Given the description of an element on the screen output the (x, y) to click on. 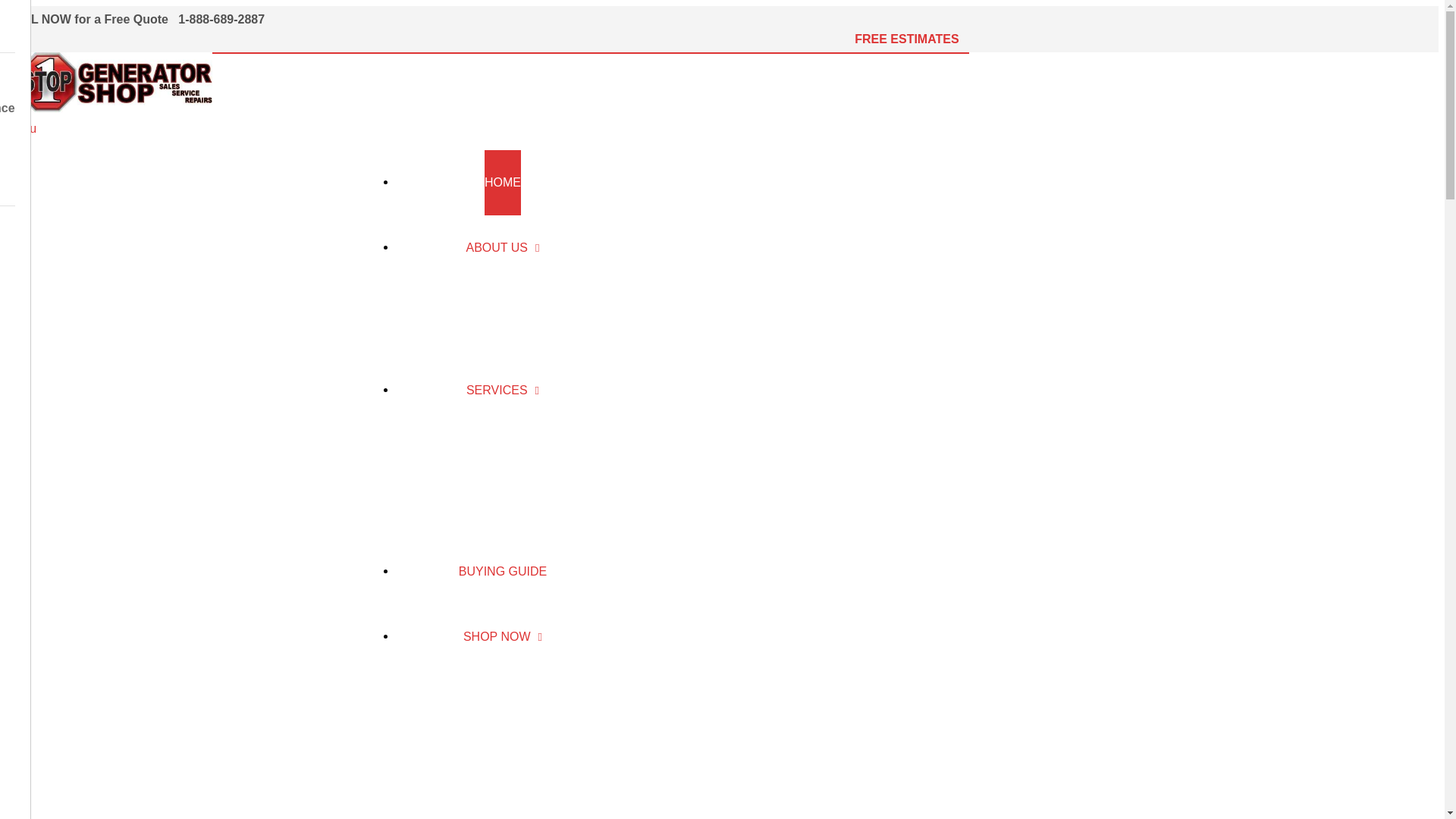
SERVICES Element type: text (502, 390)
1 Stop Generator Shop Element type: text (272, 125)
BUYING GUIDE Element type: text (502, 571)
FREE ESTIMATES  Element type: text (908, 38)
ABOUT US Element type: text (502, 247)
HOME Element type: text (502, 182)
SHOP NOW Element type: text (502, 636)
Menu Element type: text (487, 128)
